Given the description of an element on the screen output the (x, y) to click on. 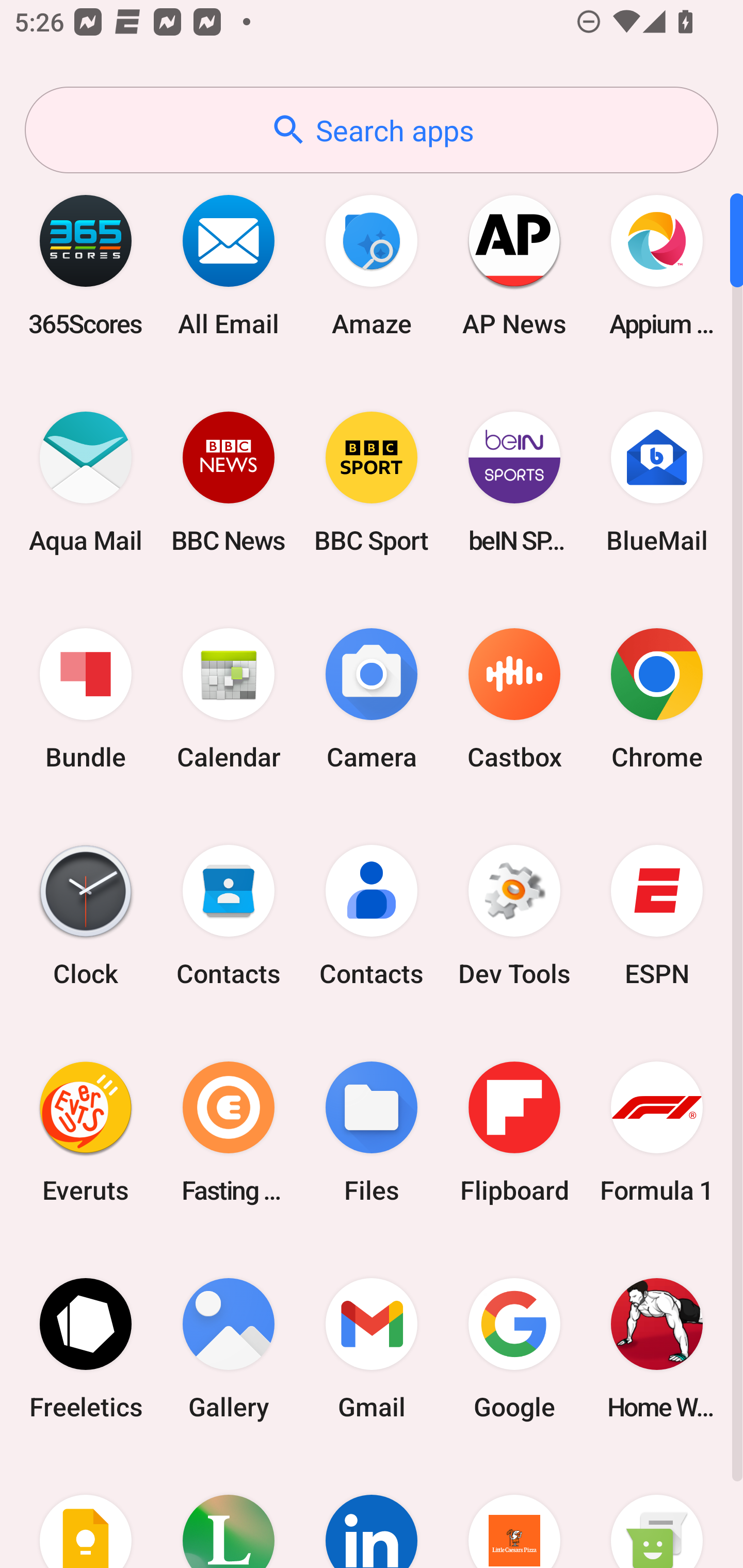
  Search apps (371, 130)
365Scores (85, 264)
All Email (228, 264)
Amaze (371, 264)
AP News (514, 264)
Appium Settings (656, 264)
Aqua Mail (85, 482)
BBC News (228, 482)
BBC Sport (371, 482)
beIN SPORTS (514, 482)
BlueMail (656, 482)
Bundle (85, 699)
Calendar (228, 699)
Camera (371, 699)
Castbox (514, 699)
Chrome (656, 699)
Clock (85, 915)
Contacts (228, 915)
Contacts (371, 915)
Dev Tools (514, 915)
ESPN (656, 915)
Everuts (85, 1131)
Fasting Coach (228, 1131)
Files (371, 1131)
Flipboard (514, 1131)
Formula 1 (656, 1131)
Freeletics (85, 1348)
Gallery (228, 1348)
Gmail (371, 1348)
Google (514, 1348)
Home Workout (656, 1348)
Keep Notes (85, 1512)
Lifesum (228, 1512)
LinkedIn (371, 1512)
Little Caesars Pizza (514, 1512)
Messaging (656, 1512)
